Given the description of an element on the screen output the (x, y) to click on. 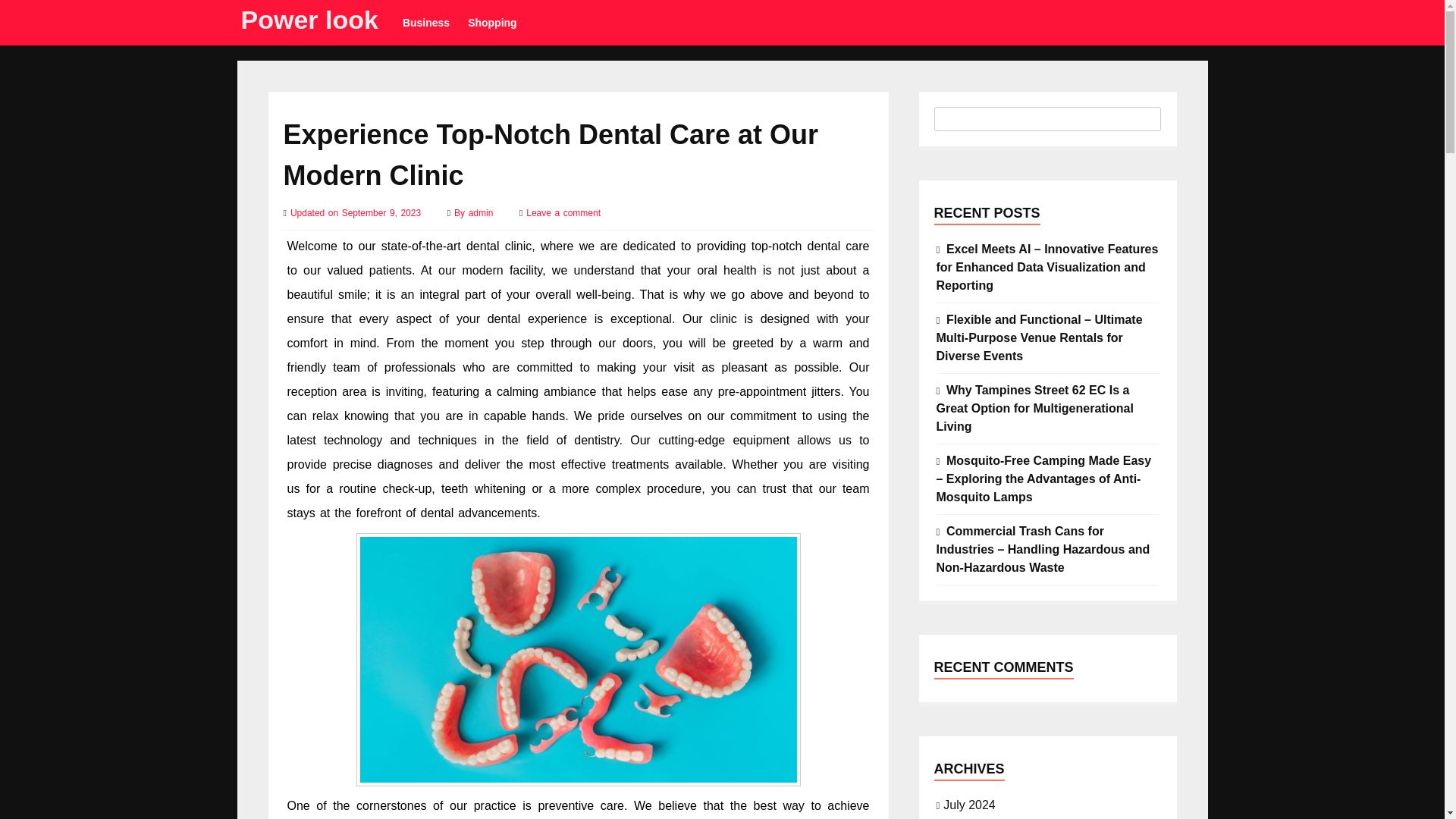
Business (425, 22)
Shopping (491, 22)
admin (482, 213)
Leave a comment (562, 213)
July 2024 (969, 803)
Power look (309, 19)
